Given the description of an element on the screen output the (x, y) to click on. 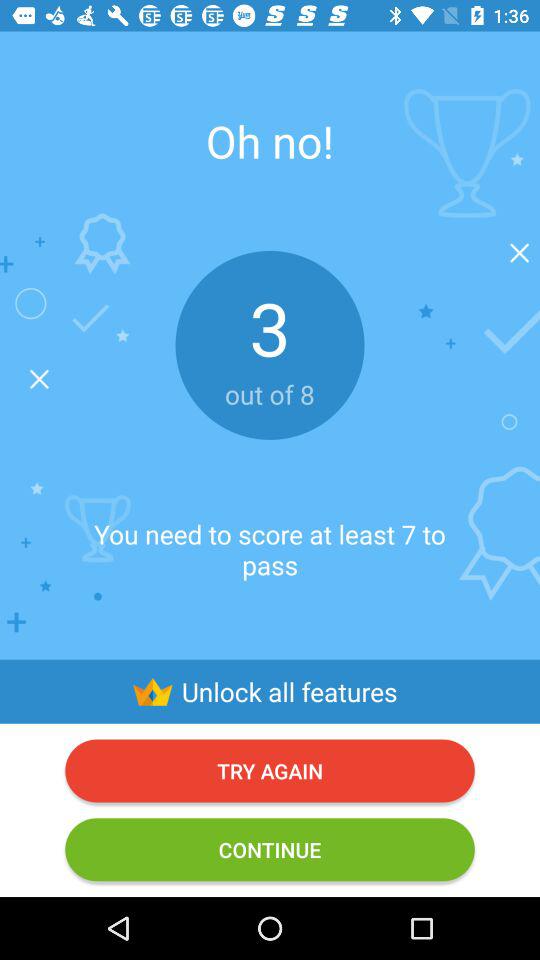
turn off icon below the try again item (269, 849)
